Given the description of an element on the screen output the (x, y) to click on. 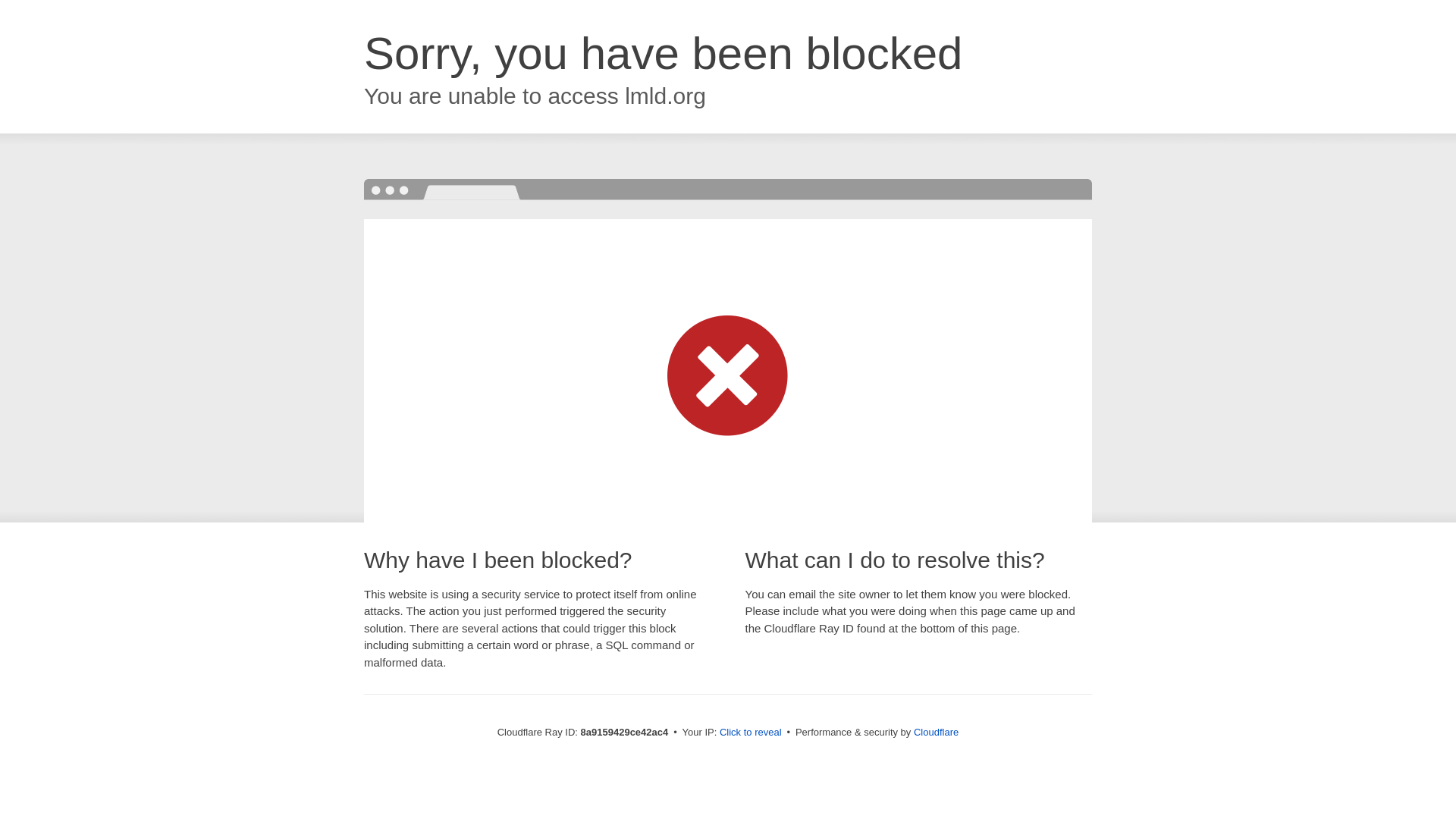
Cloudflare (936, 731)
Click to reveal (750, 732)
